Given the description of an element on the screen output the (x, y) to click on. 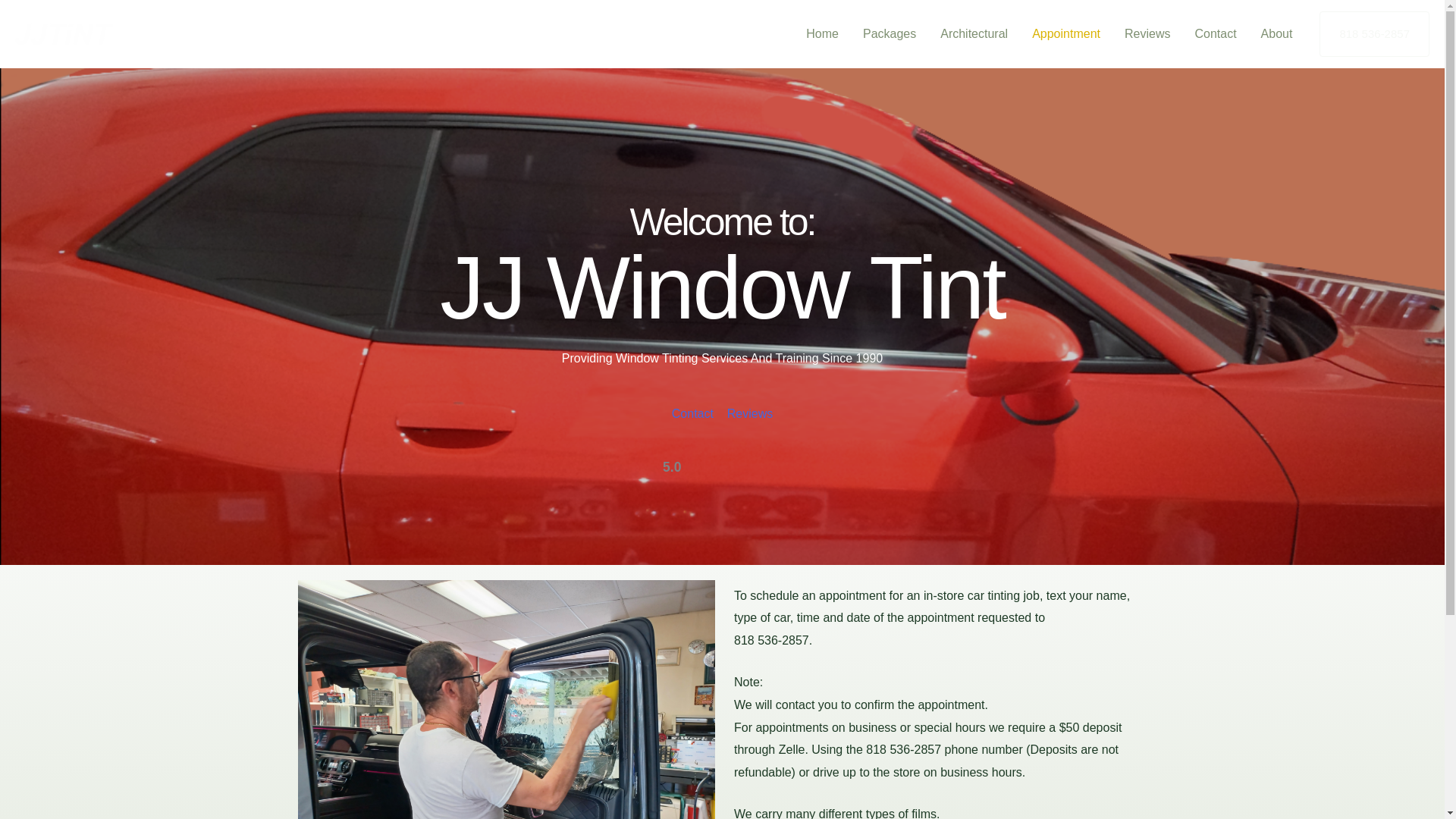
Appointment (1066, 33)
Packages (889, 33)
818 536-2857 (1374, 33)
Contact (692, 413)
Contact (1214, 33)
About (1276, 33)
Reviews (1147, 33)
Architectural (974, 33)
Reviews (749, 413)
Home (821, 33)
